Given the description of an element on the screen output the (x, y) to click on. 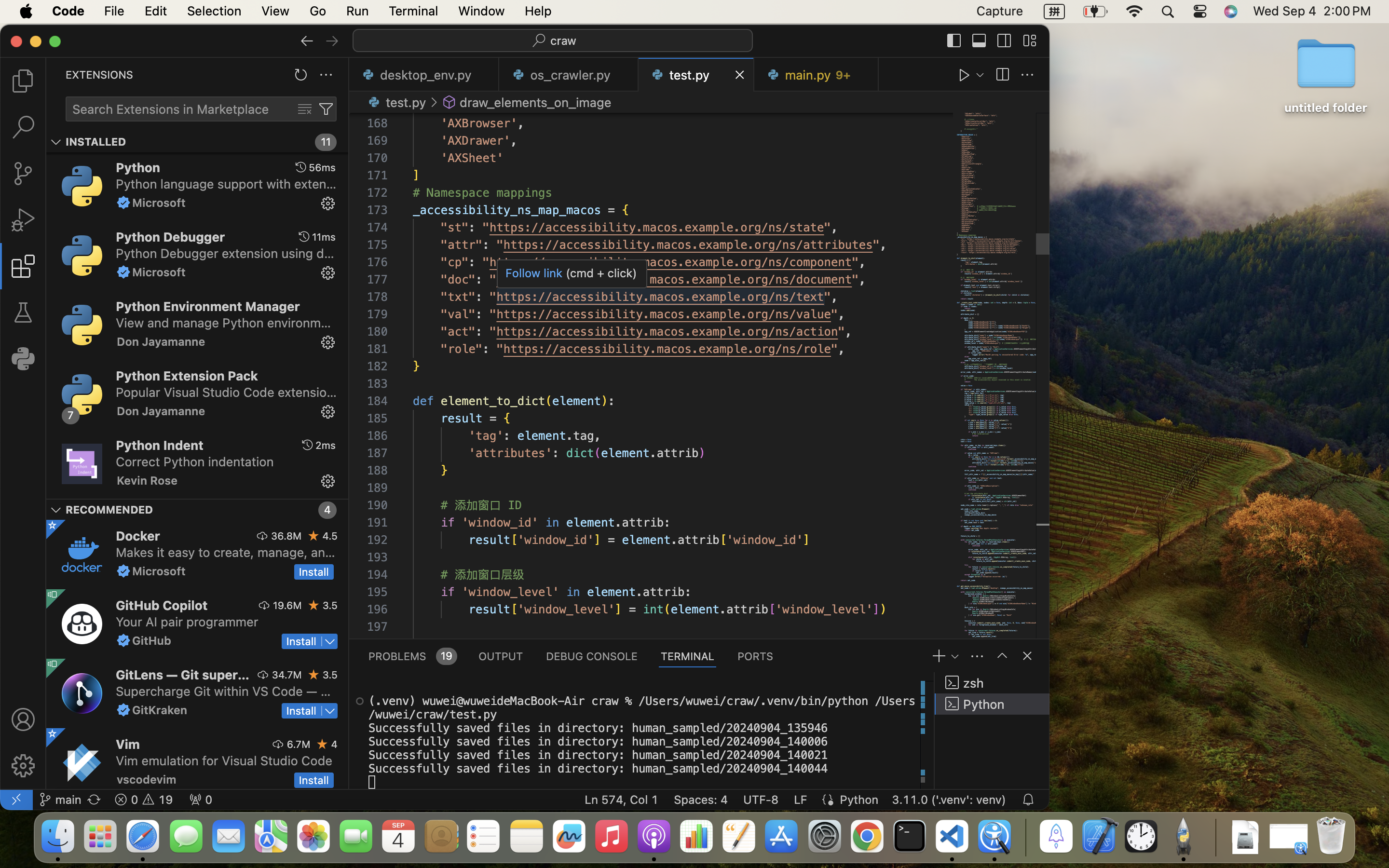
Supercharge Git within VS Code — Visualize code authorship at a glance via Git blame annotations and CodeLens, seamlessly navigate and explore Git repositories, gain valuable insights via rich visualizations and powerful comparison commands, and so much more Element type: AXStaticText (222, 690)
View and manage Python environments & packages. Element type: AXStaticText (223, 322)
11 Element type: AXStaticText (325, 141)
Kevin Rose Element type: AXStaticText (147, 480)
3.5 Element type: AXStaticText (329, 604)
